Given the description of an element on the screen output the (x, y) to click on. 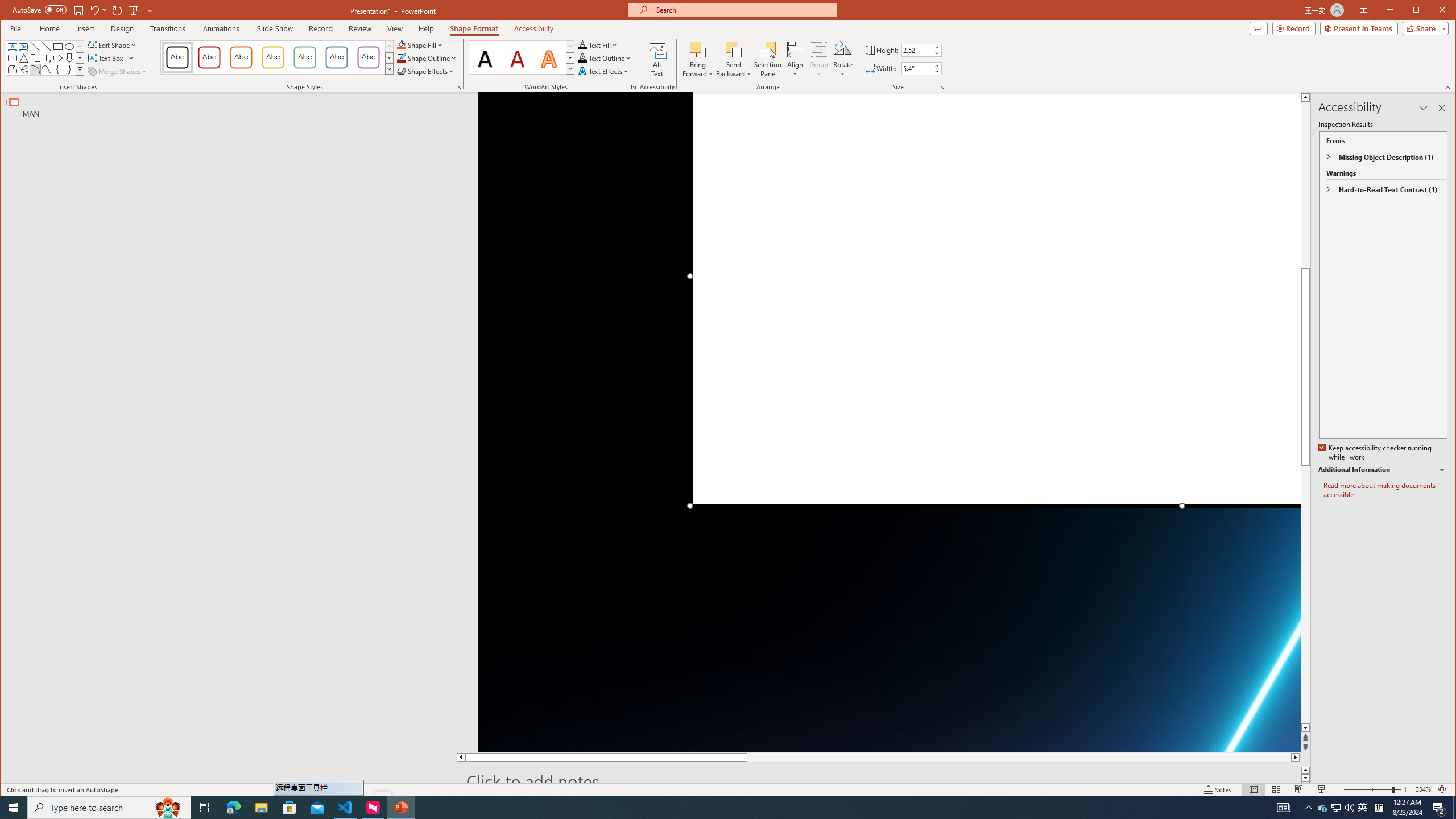
AutomationID: 4105 (1283, 807)
Connector: Elbow (34, 57)
Fill: Black, Text color 1; Shadow (486, 57)
Task Pane Options (1422, 107)
Connector: Elbow Arrow (46, 57)
Keep accessibility checker running while I work (1375, 452)
Shapes (79, 69)
Rotate (842, 59)
Colored Outline - Purple, Accent 6 (368, 57)
User Promoted Notification Area (1336, 807)
Search highlights icon opens search home window (167, 807)
Colored Outline - Orange, Accent 2 (241, 57)
Ribbon Display Options (1364, 9)
